Given the description of an element on the screen output the (x, y) to click on. 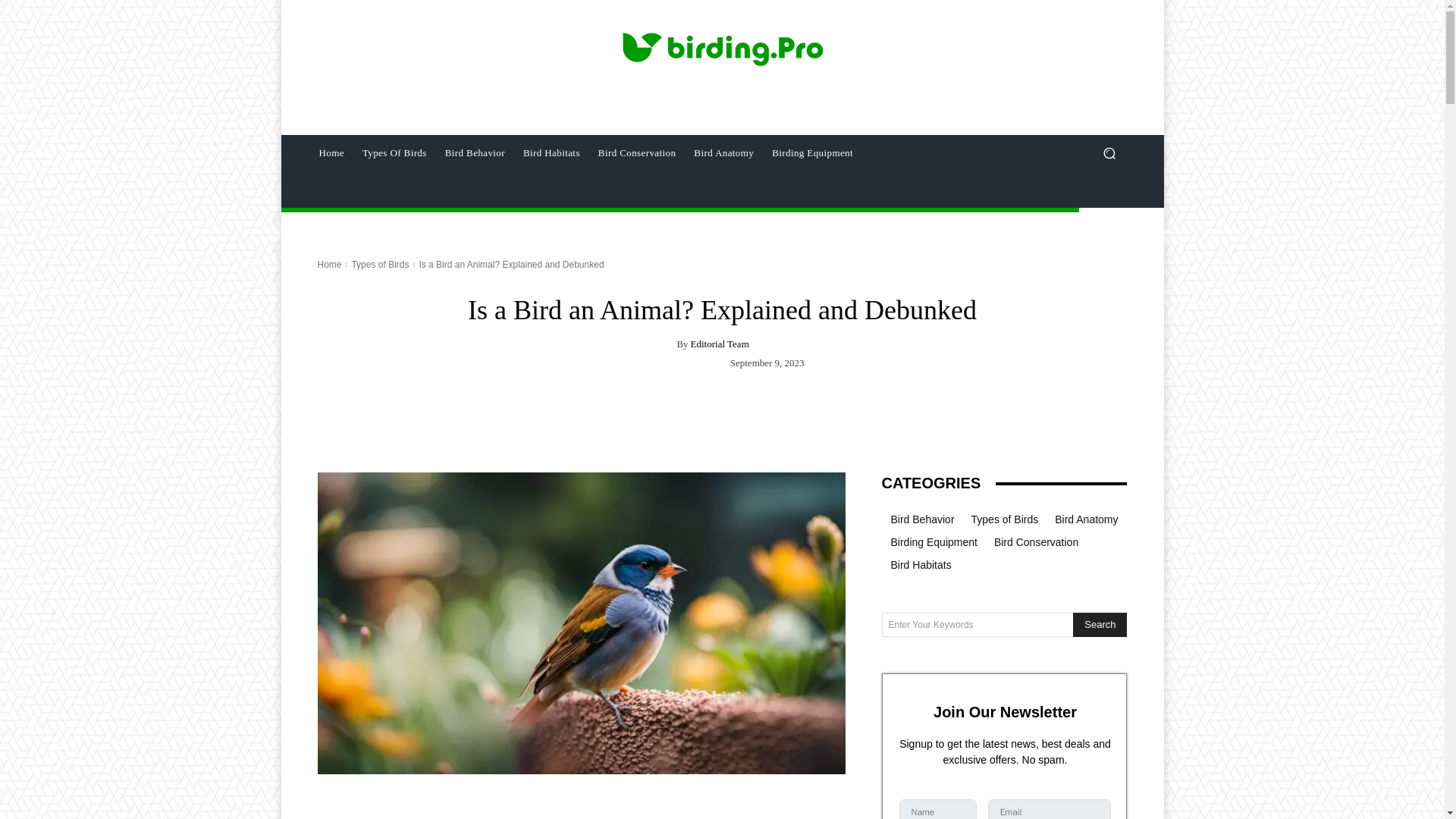
Bird Behavior (474, 153)
View all posts in Types of Birds (379, 264)
Home (330, 153)
Editorial Team (719, 343)
Birding Equipment (811, 153)
Bird Habitats (551, 153)
Types Of Birds (394, 153)
Home (328, 264)
Bird Conservation (637, 153)
Types of Birds (379, 264)
